Given the description of an element on the screen output the (x, y) to click on. 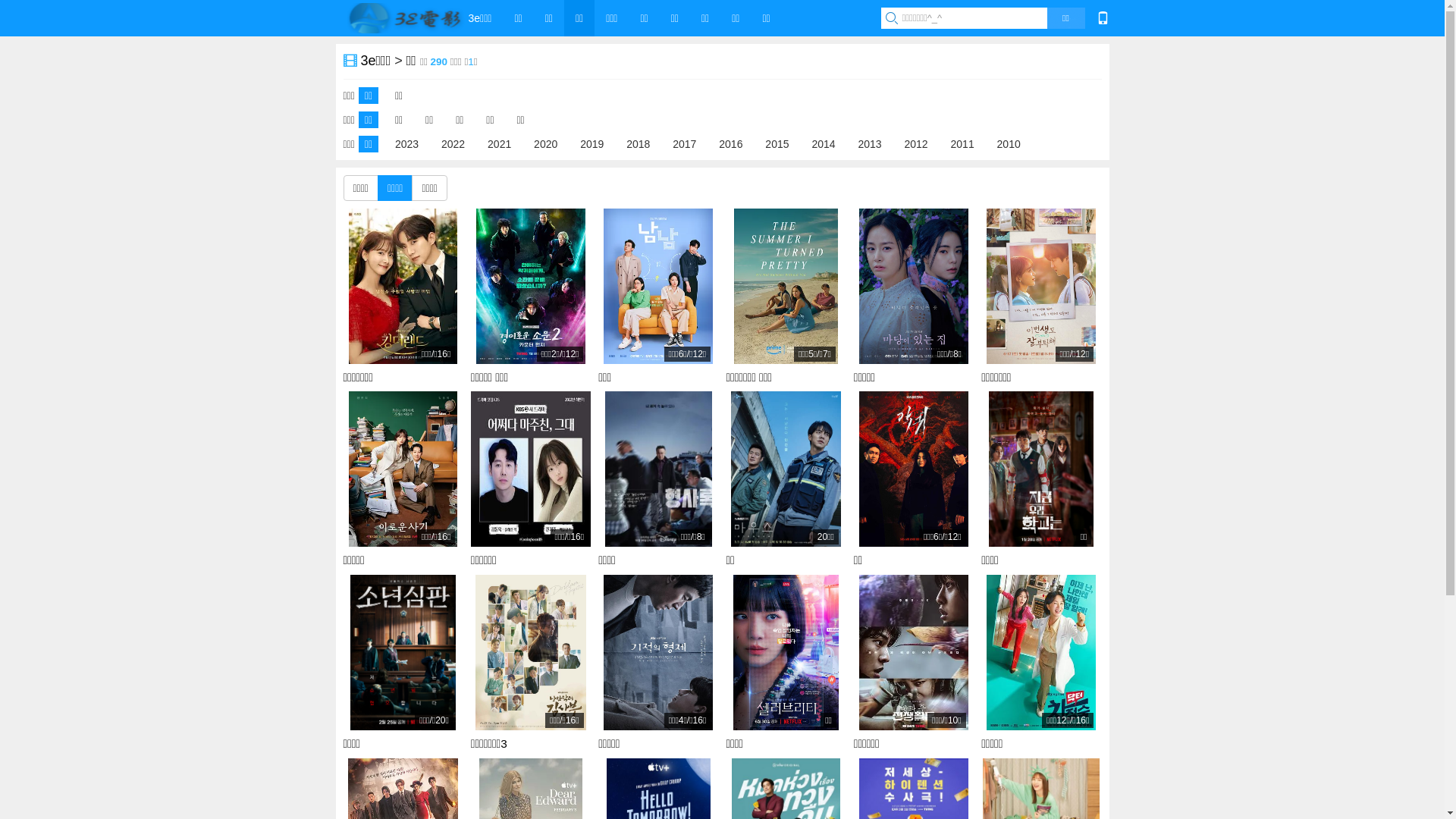
2011 Element type: text (962, 142)
2012 Element type: text (915, 142)
2021 Element type: text (499, 142)
2022 Element type: text (452, 142)
2013 Element type: text (869, 142)
2019 Element type: text (591, 142)
2014 Element type: text (822, 142)
2020 Element type: text (545, 142)
2010 Element type: text (1008, 142)
2018 Element type: text (637, 142)
2023 Element type: text (406, 142)
2017 Element type: text (684, 142)
2016 Element type: text (730, 142)
2015 Element type: text (776, 142)
